Given the description of an element on the screen output the (x, y) to click on. 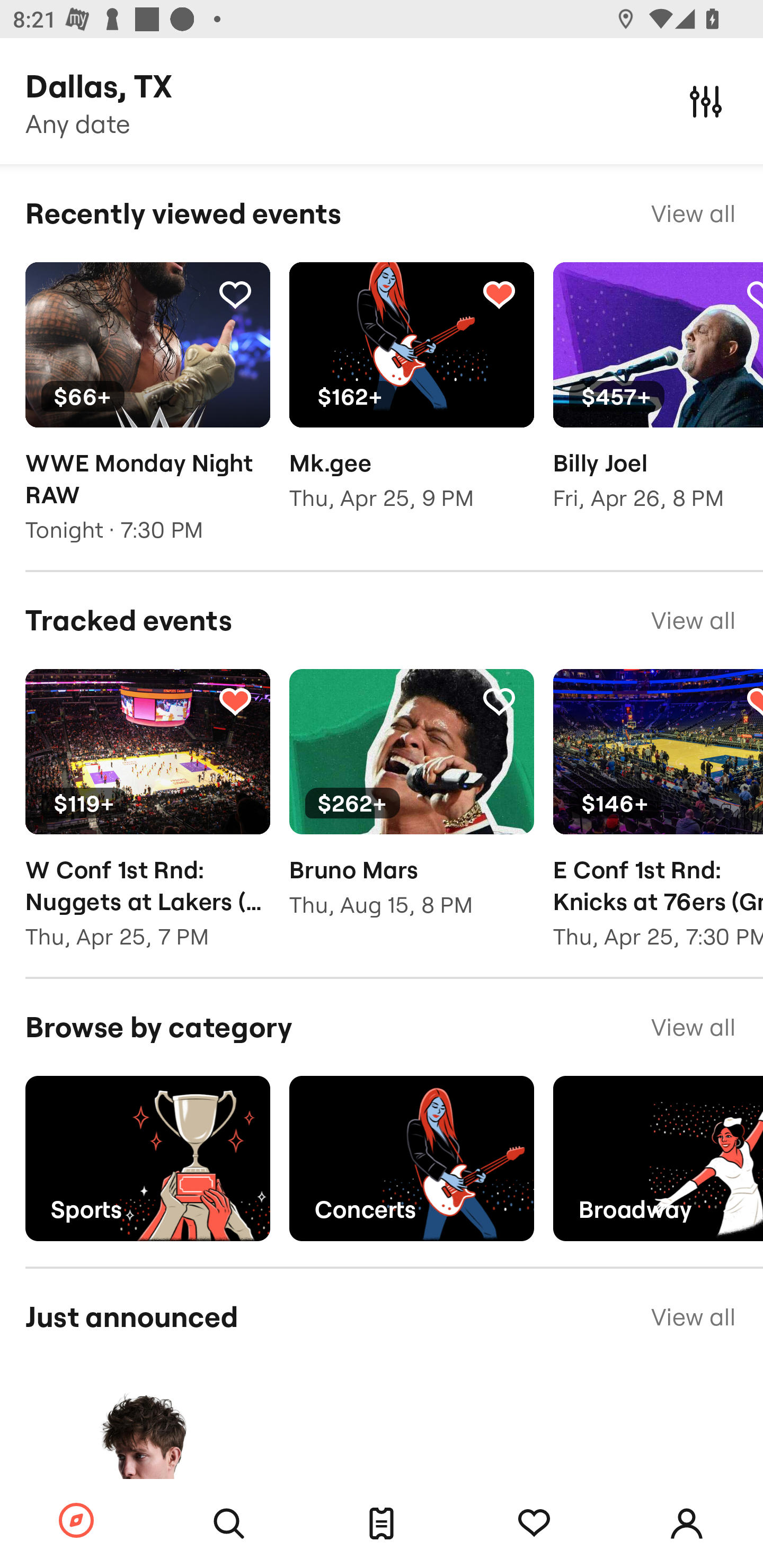
Close (705, 100)
View all (693, 212)
Tracking $162+ Mk.gee Thu, Apr 25, 9 PM (411, 399)
Tracking $457+ Billy Joel Fri, Apr 26, 8 PM (658, 399)
Tracking (234, 293)
Tracking (498, 293)
View all (693, 620)
Tracking $262+ Bruno Mars Thu, Aug 15, 8 PM (411, 806)
Tracking (234, 700)
Tracking (498, 700)
View all (693, 1026)
Sports (147, 1158)
Concerts (411, 1158)
Broadway (658, 1158)
View all (693, 1316)
Browse (76, 1521)
Search (228, 1523)
Tickets (381, 1523)
Tracking (533, 1523)
Account (686, 1523)
